Given the description of an element on the screen output the (x, y) to click on. 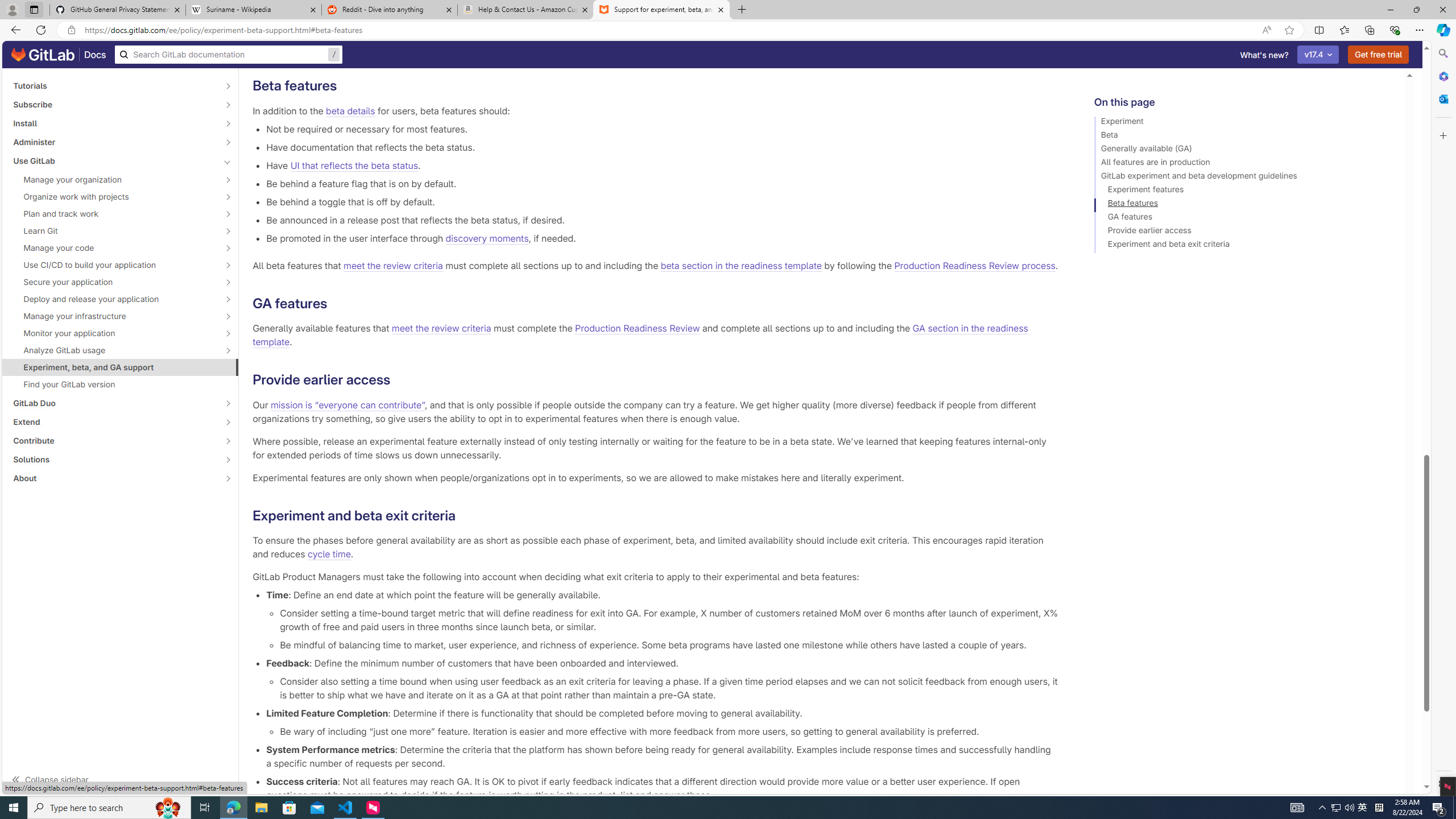
Experiment (1244, 123)
Find your GitLab version (120, 384)
v17.4 (1318, 54)
meet the review criteria (441, 328)
discovery moments (486, 237)
Provide earlier access (1244, 232)
Beta (1244, 136)
